Given the description of an element on the screen output the (x, y) to click on. 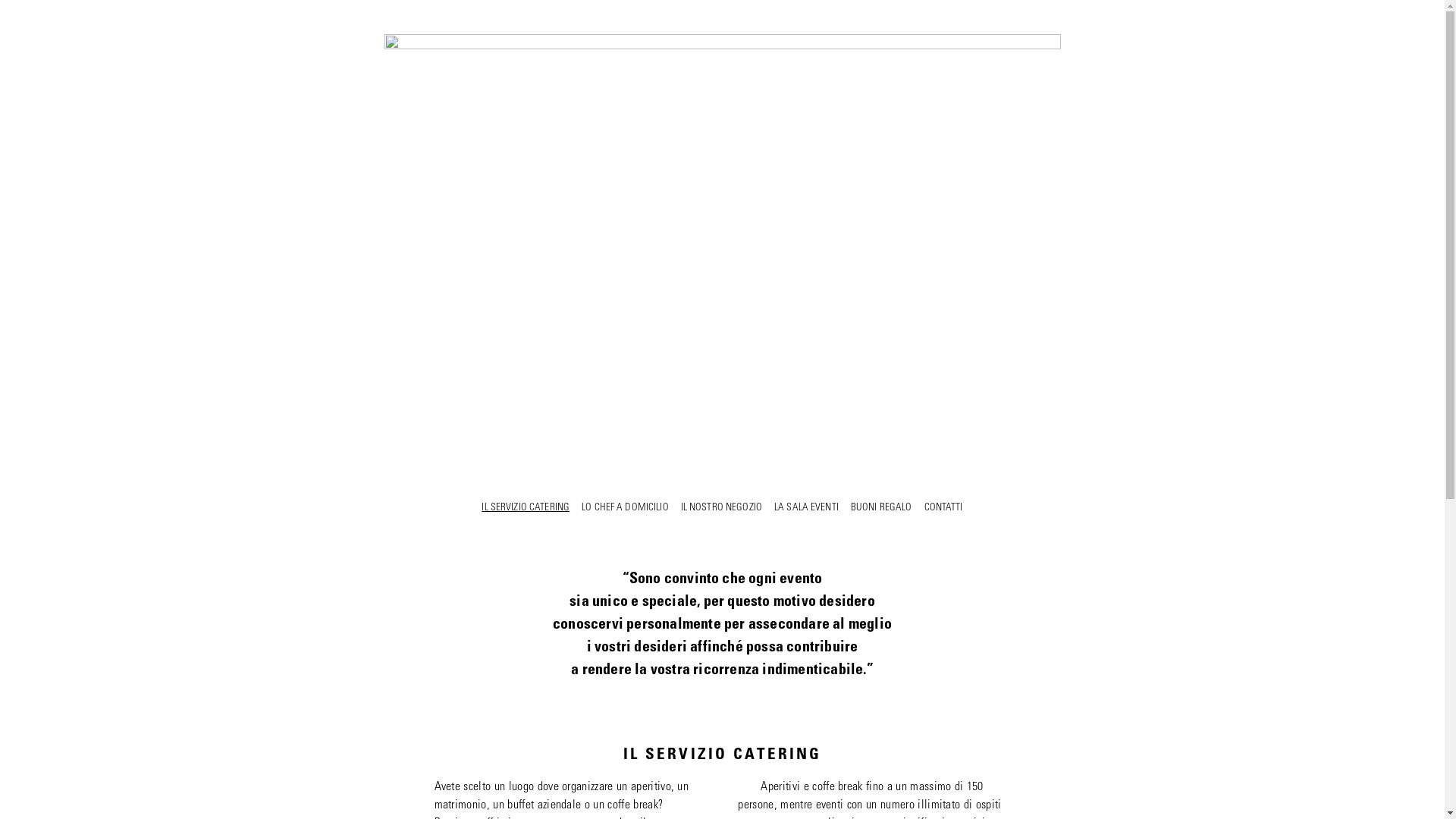
IL NOSTRO NEGOZIO Element type: text (721, 507)
CONTATTI Element type: text (942, 507)
LO CHEF A DOMICILIO Element type: text (624, 507)
IL SERVIZIO CATERING - Carlo Stroppini Element type: hover (721, 44)
BUONI REGALO Element type: text (881, 507)
IL SERVIZIO CATERING Element type: text (525, 507)
LA SALA EVENTI Element type: text (806, 507)
